Given the description of an element on the screen output the (x, y) to click on. 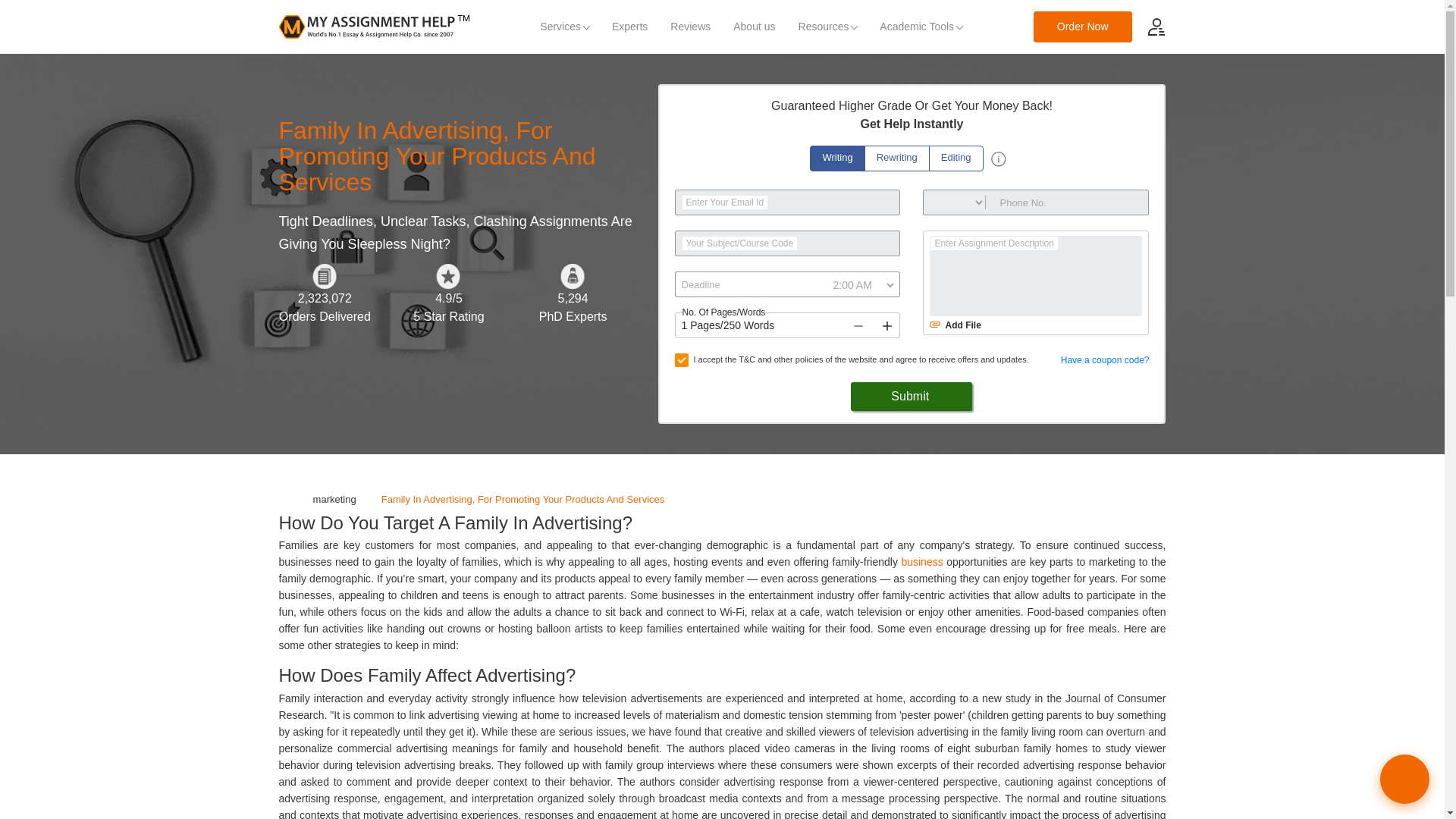
Reviews (690, 26)
Services (563, 26)
Info (998, 159)
menu (1156, 26)
About us (754, 26)
Experts (629, 26)
